Given the description of an element on the screen output the (x, y) to click on. 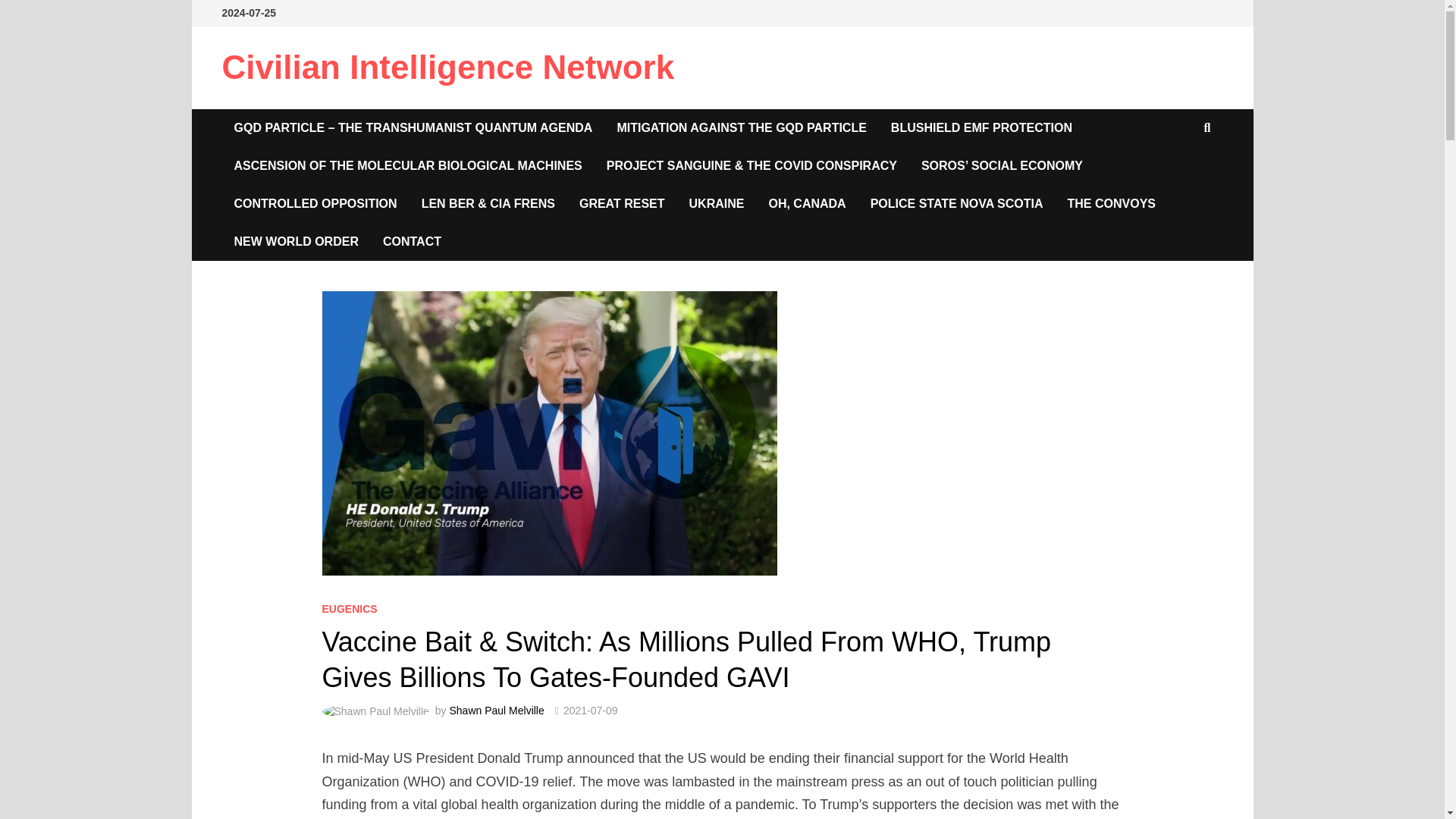
ASCENSION OF THE MOLECULAR BIOLOGICAL MACHINES (407, 166)
CONTACT (411, 241)
Shawn Paul Melville (495, 710)
OH, CANADA (806, 203)
BLUSHIELD EMF PROTECTION (981, 127)
UKRAINE (717, 203)
GREAT RESET (622, 203)
THE CONVOYS (1111, 203)
Civilian Intelligence Network (447, 66)
EUGENICS (349, 608)
CONTROLLED OPPOSITION (315, 203)
NEW WORLD ORDER (295, 241)
2021-07-09 (590, 710)
POLICE STATE NOVA SCOTIA (957, 203)
MITIGATION AGAINST THE GQD PARTICLE (740, 127)
